Given the description of an element on the screen output the (x, y) to click on. 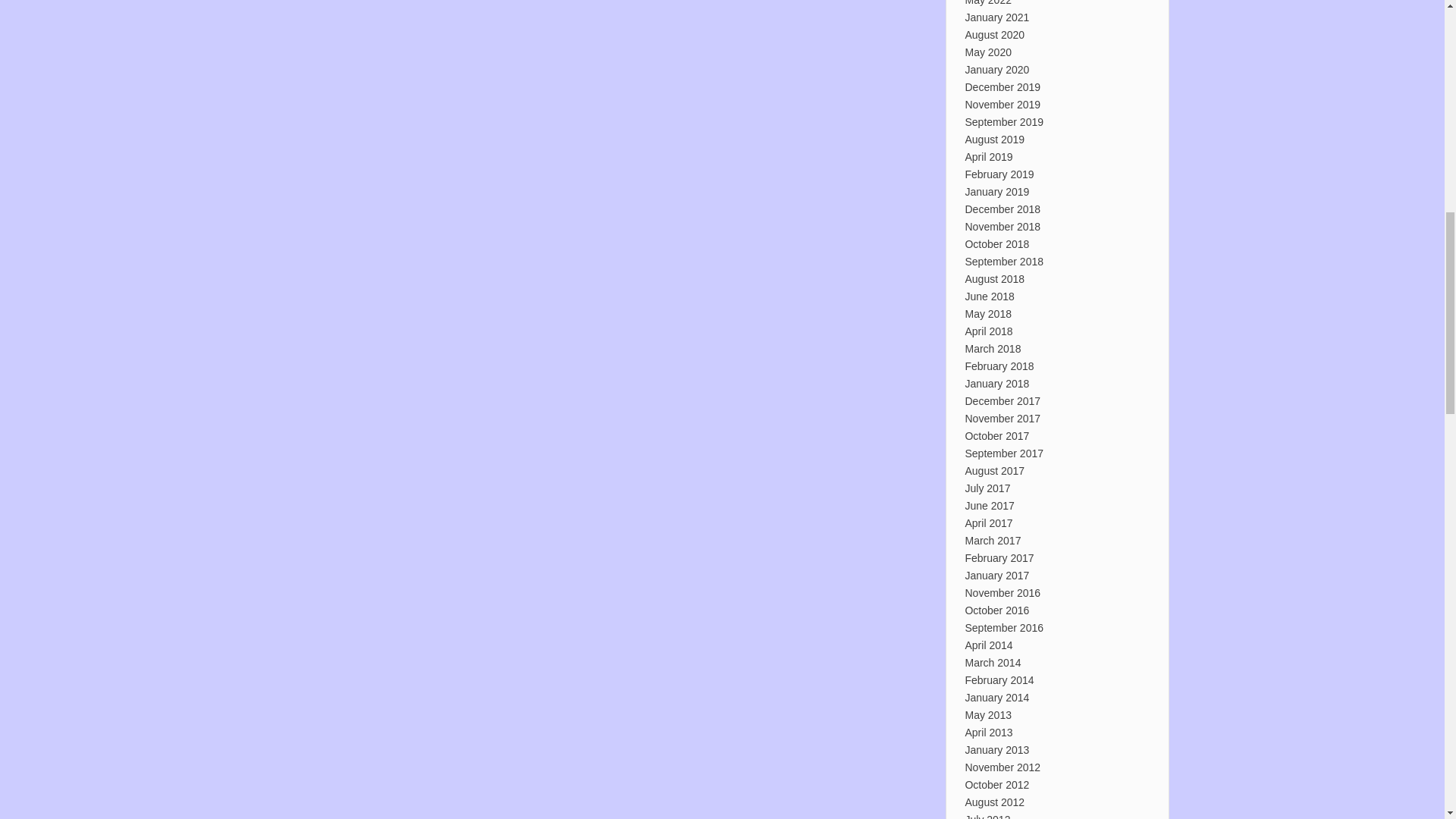
December 2019 (1002, 87)
September 2019 (1003, 121)
January 2020 (996, 69)
May 2020 (986, 51)
February 2019 (998, 174)
April 2019 (987, 156)
May 2022 (986, 2)
January 2021 (996, 17)
August 2020 (994, 34)
November 2019 (1002, 104)
